Given the description of an element on the screen output the (x, y) to click on. 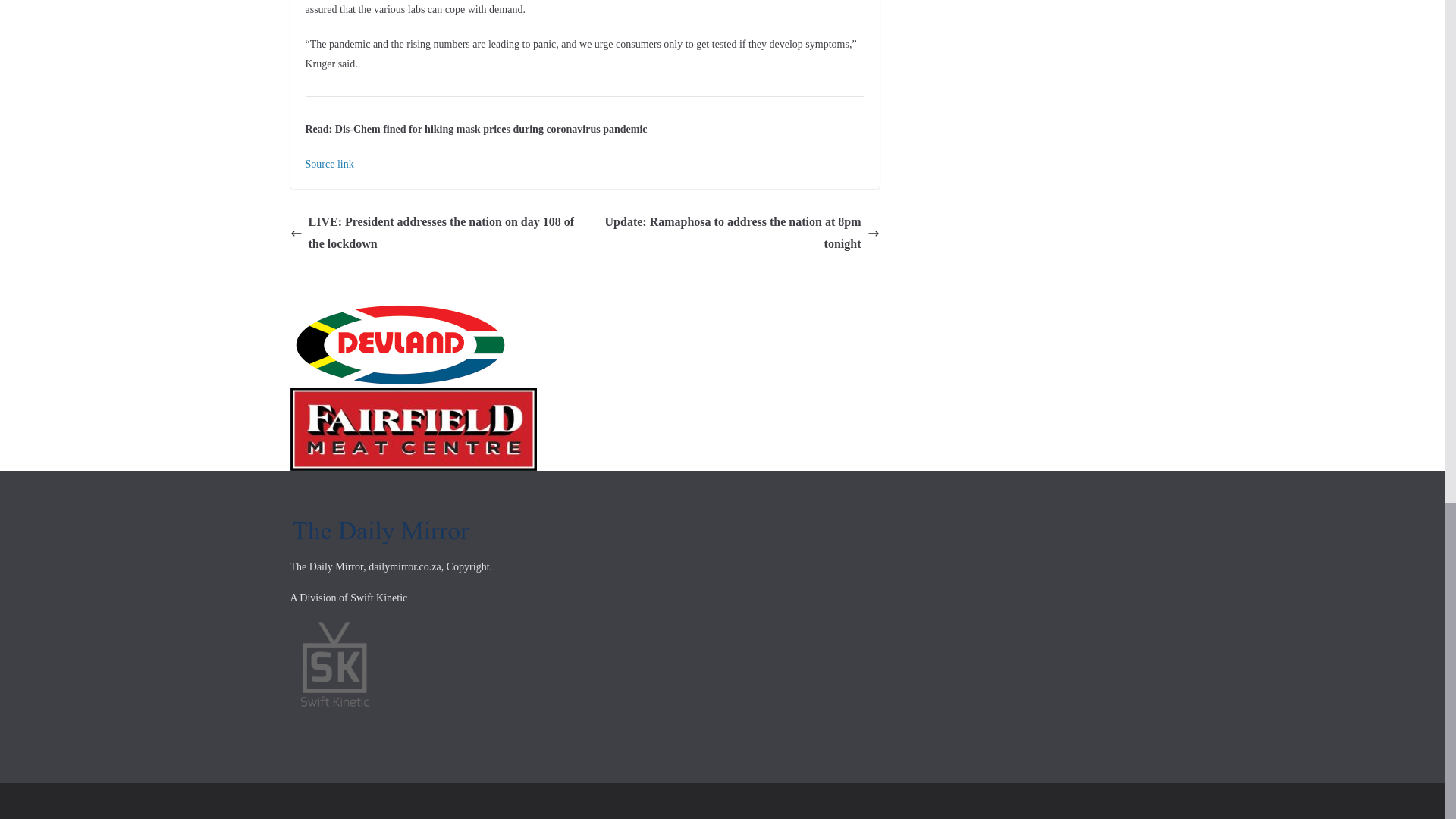
Update: Ramaphosa to address the nation at 8pm tonight (735, 233)
Source link (328, 163)
